Given the description of an element on the screen output the (x, y) to click on. 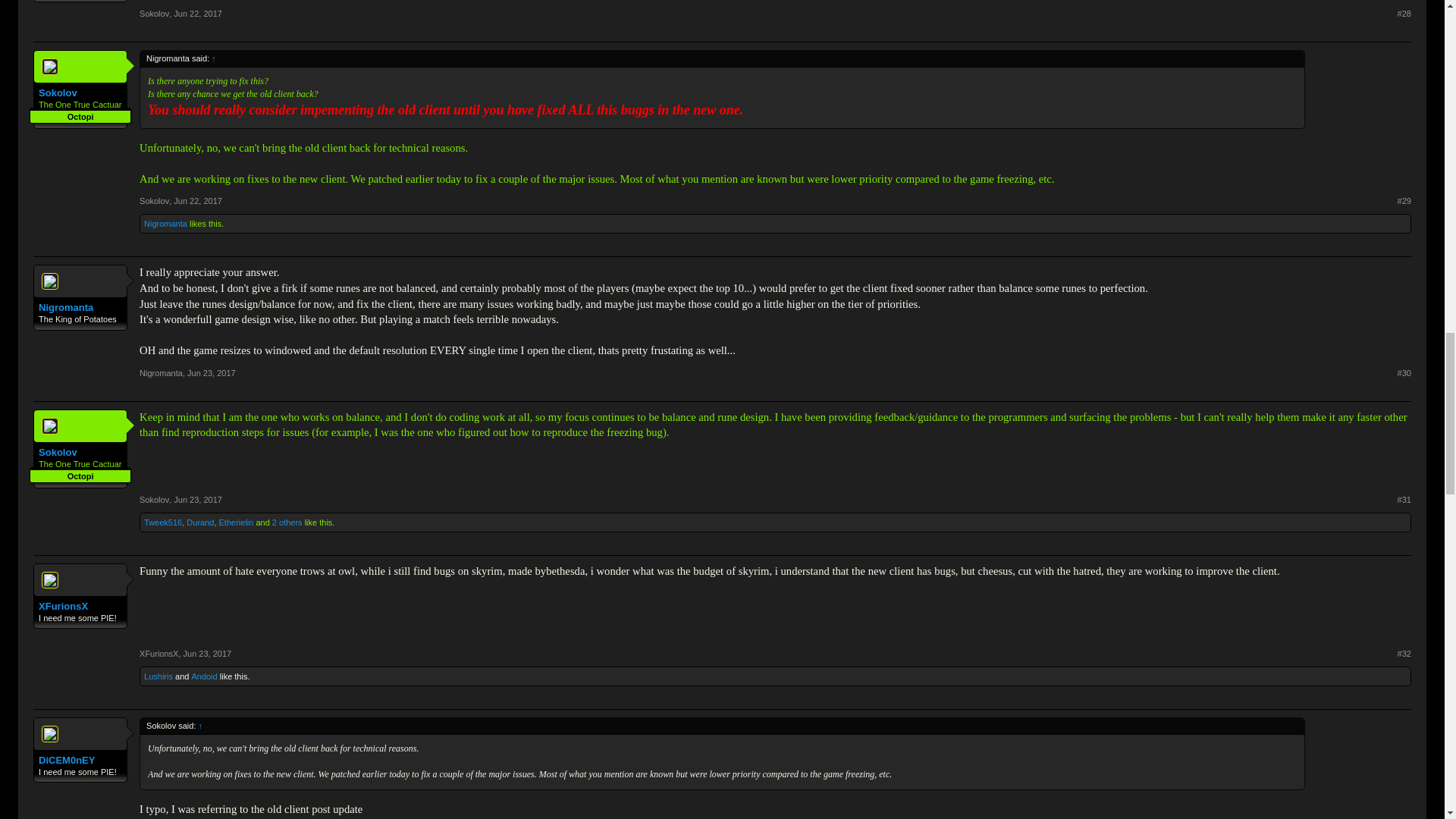
Jun 22, 2017 (197, 13)
Sokolov (153, 13)
Nigromanta (165, 223)
Permalink (211, 372)
Jun 22, 2017 (197, 200)
Permalink (197, 200)
Permalink (1403, 200)
Nigromanta (80, 307)
Permalink (197, 13)
Sokolov (80, 92)
Permalink (1403, 499)
Permalink (1403, 372)
Permalink (1403, 13)
Permalink (207, 653)
Permalink (1403, 653)
